Given the description of an element on the screen output the (x, y) to click on. 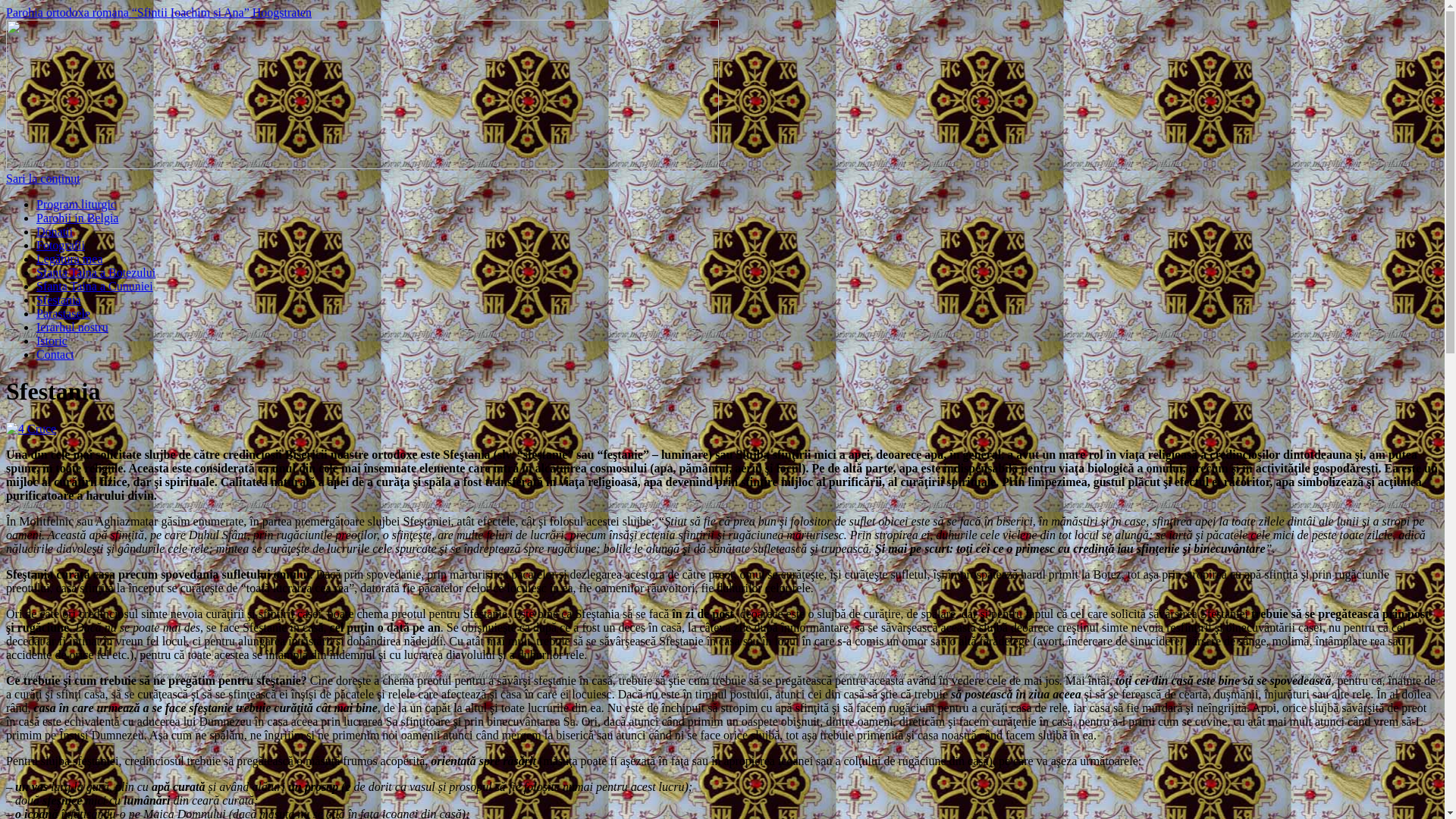
Contact Element type: text (55, 354)
Donatii Element type: text (54, 231)
Istoric Element type: text (51, 340)
Parastasele Element type: text (63, 313)
Parohii in Belgia Element type: text (77, 217)
Sfanta Taina a Botezului Element type: text (95, 272)
Sfestania Element type: text (58, 299)
Program liturgic Element type: text (76, 203)
Fotografii Element type: text (60, 244)
Ierarhul nostru Element type: text (72, 326)
Sfanta Taina a Cununiei Element type: text (94, 285)
